Given the description of an element on the screen output the (x, y) to click on. 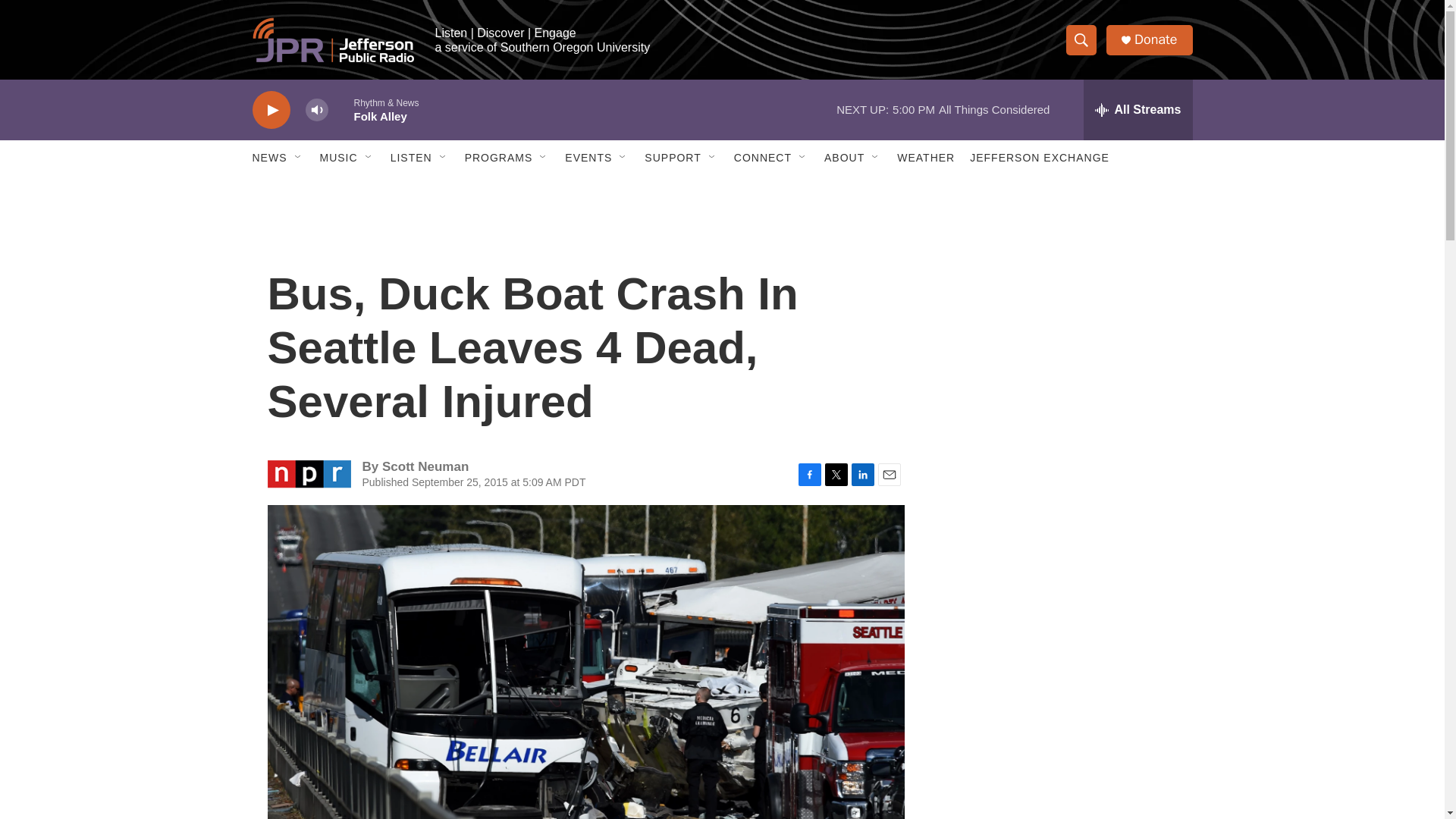
3rd party ad content (1062, 740)
3rd party ad content (1062, 316)
3rd party ad content (1062, 536)
